Given the description of an element on the screen output the (x, y) to click on. 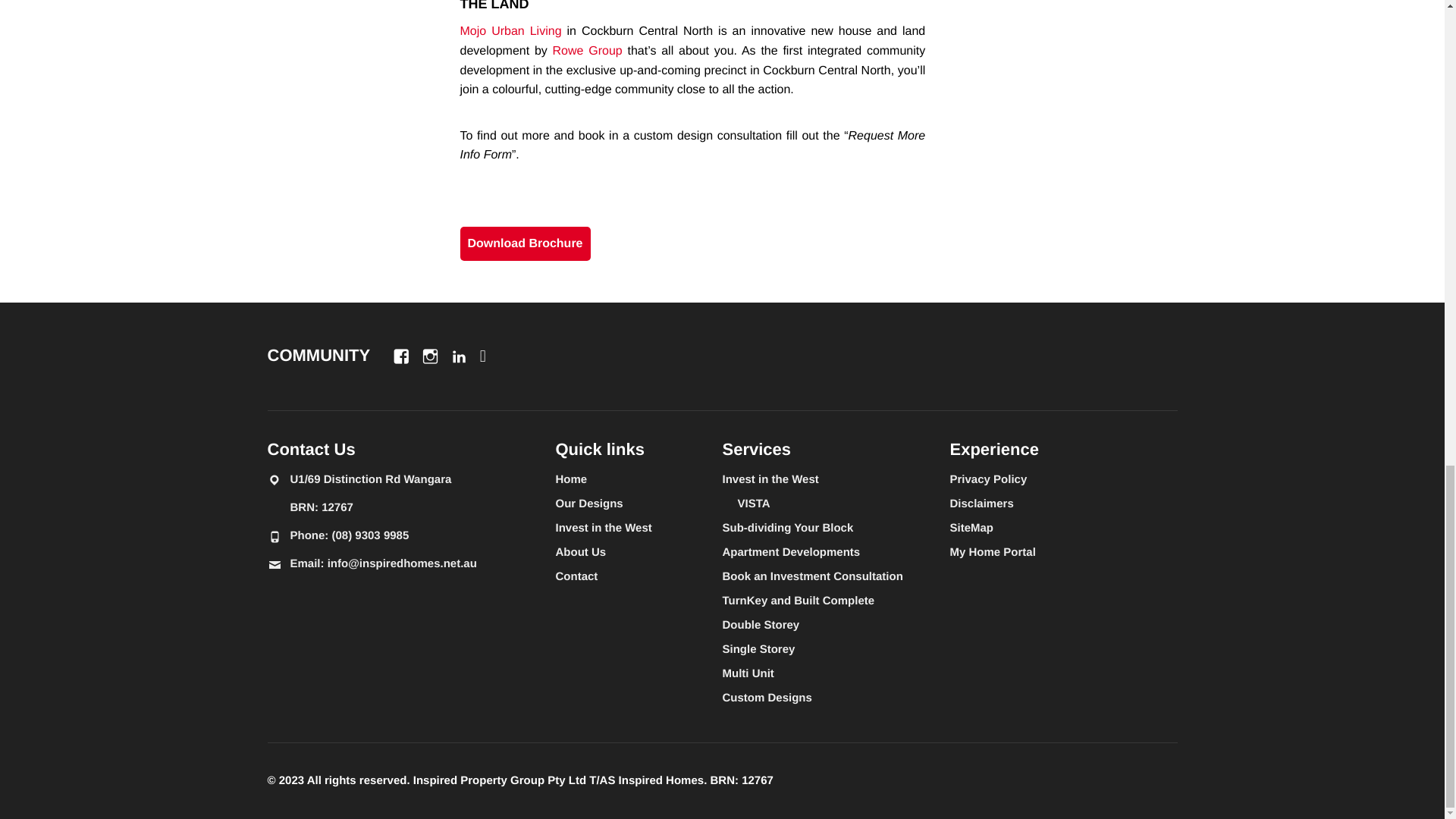
Home (570, 478)
Rowe Group (588, 51)
Our Designs (588, 502)
Download Brochure (524, 243)
Mojo Urban Living (510, 31)
Invest in the West (602, 526)
